Given the description of an element on the screen output the (x, y) to click on. 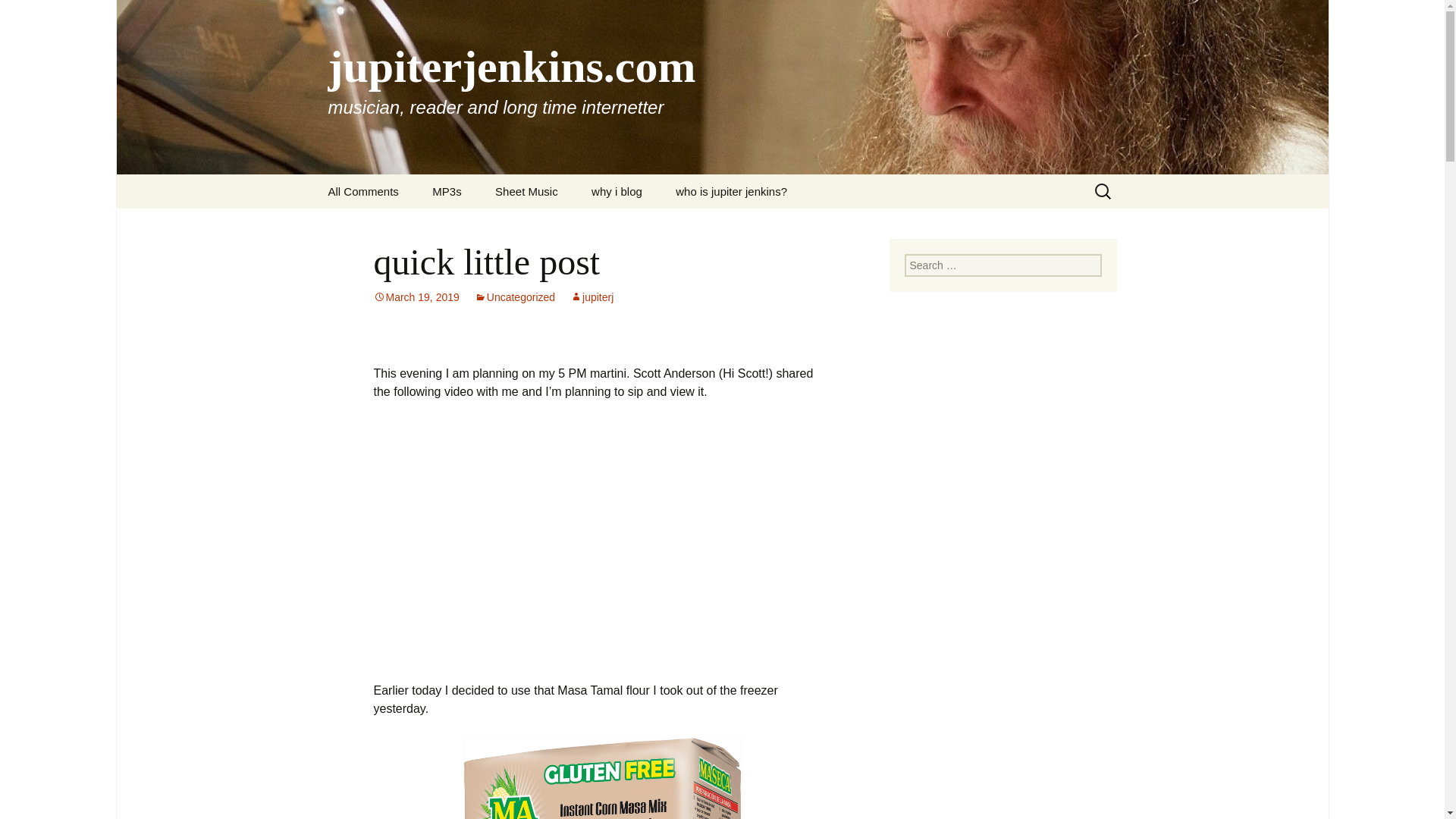
Search (34, 15)
View all posts by jupiterj (591, 297)
jupiterj (591, 297)
All Comments (363, 191)
March 19, 2019 (415, 297)
Sheet Music (526, 191)
why i blog (617, 191)
MP3s (446, 191)
